Given the description of an element on the screen output the (x, y) to click on. 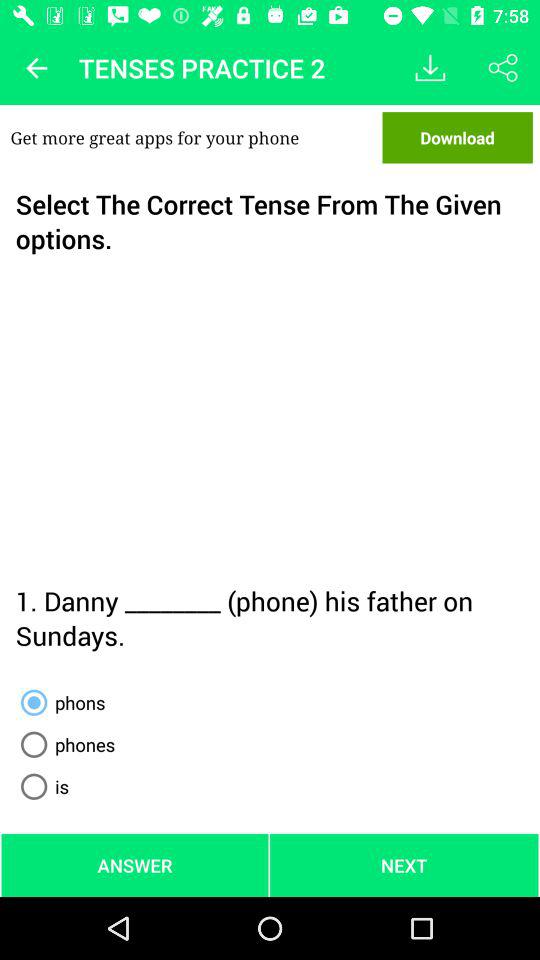
open the next at the bottom right corner (404, 864)
